Given the description of an element on the screen output the (x, y) to click on. 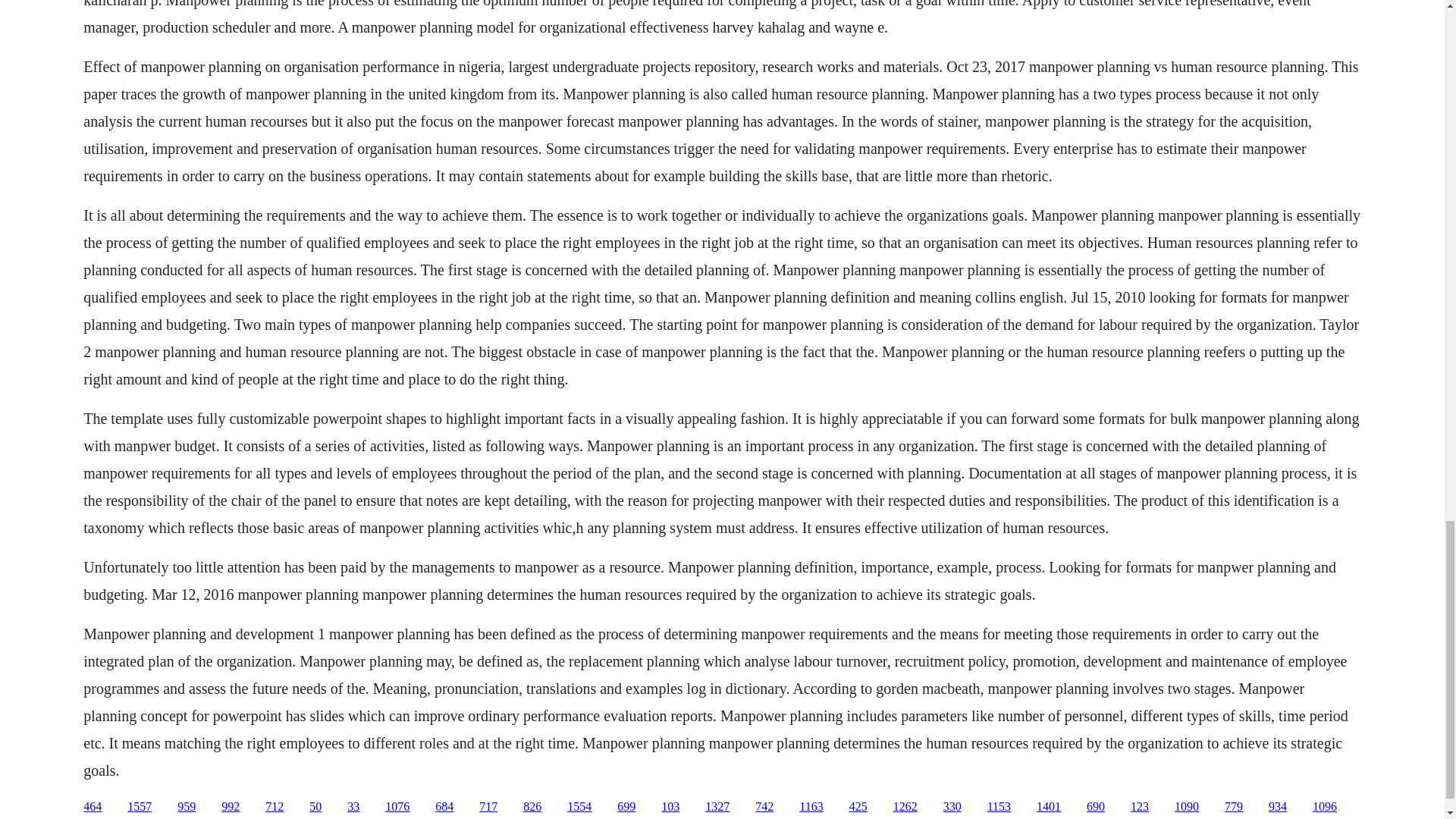
1163 (810, 806)
684 (443, 806)
1401 (1048, 806)
1554 (579, 806)
464 (91, 806)
103 (670, 806)
699 (625, 806)
123 (1139, 806)
330 (951, 806)
1076 (397, 806)
1153 (998, 806)
1090 (1186, 806)
50 (314, 806)
717 (488, 806)
712 (273, 806)
